Given the description of an element on the screen output the (x, y) to click on. 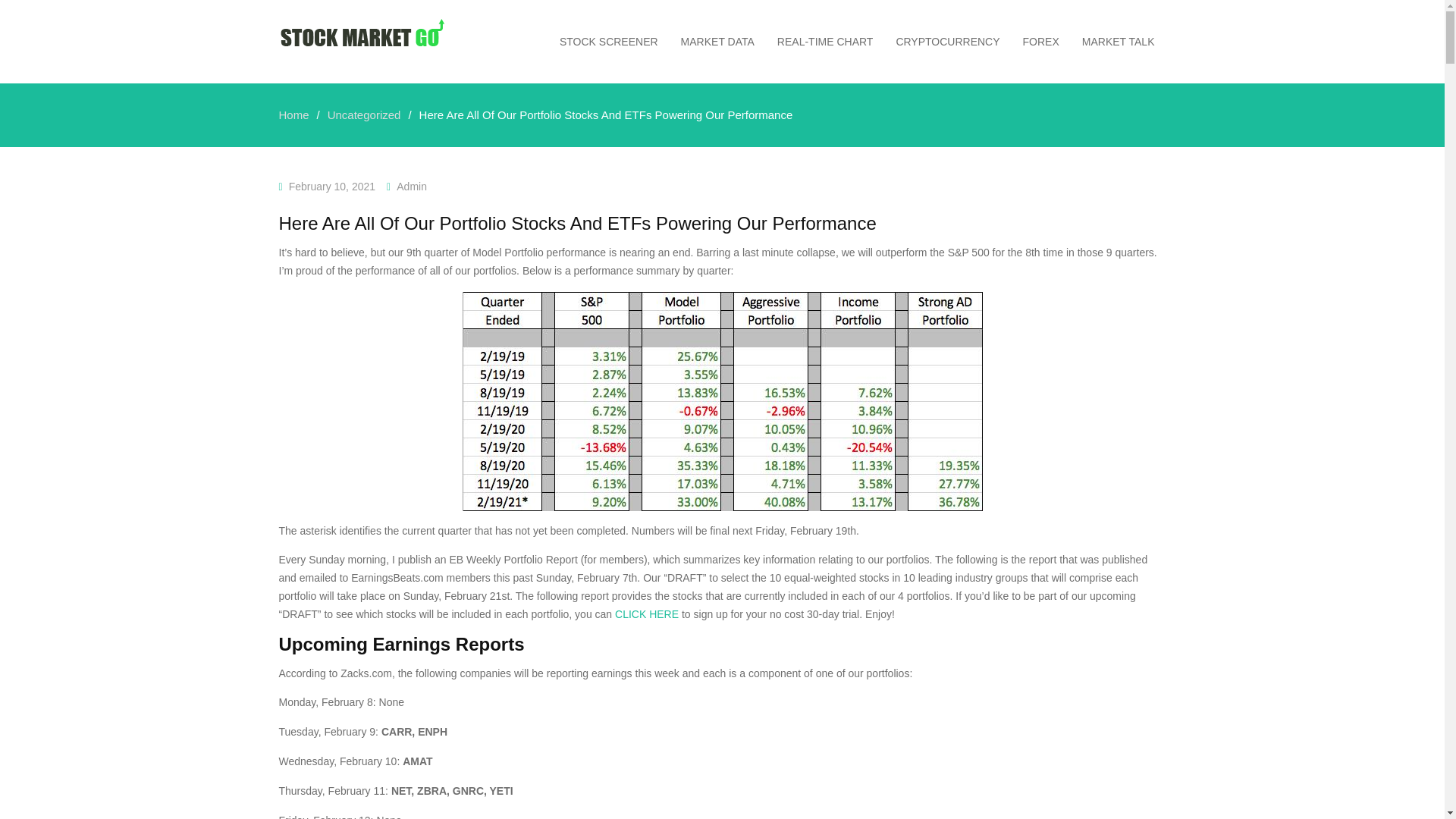
MARKET TALK (1118, 41)
FOREX (1040, 41)
MARKET DATA (717, 41)
REAL-TIME CHART (825, 41)
CRYPTOCURRENCY (946, 41)
Admin (411, 186)
STOCK SCREENER (608, 41)
Uncategorized (364, 114)
February 10, 2021 (331, 186)
CLICK HERE (646, 613)
